Given the description of an element on the screen output the (x, y) to click on. 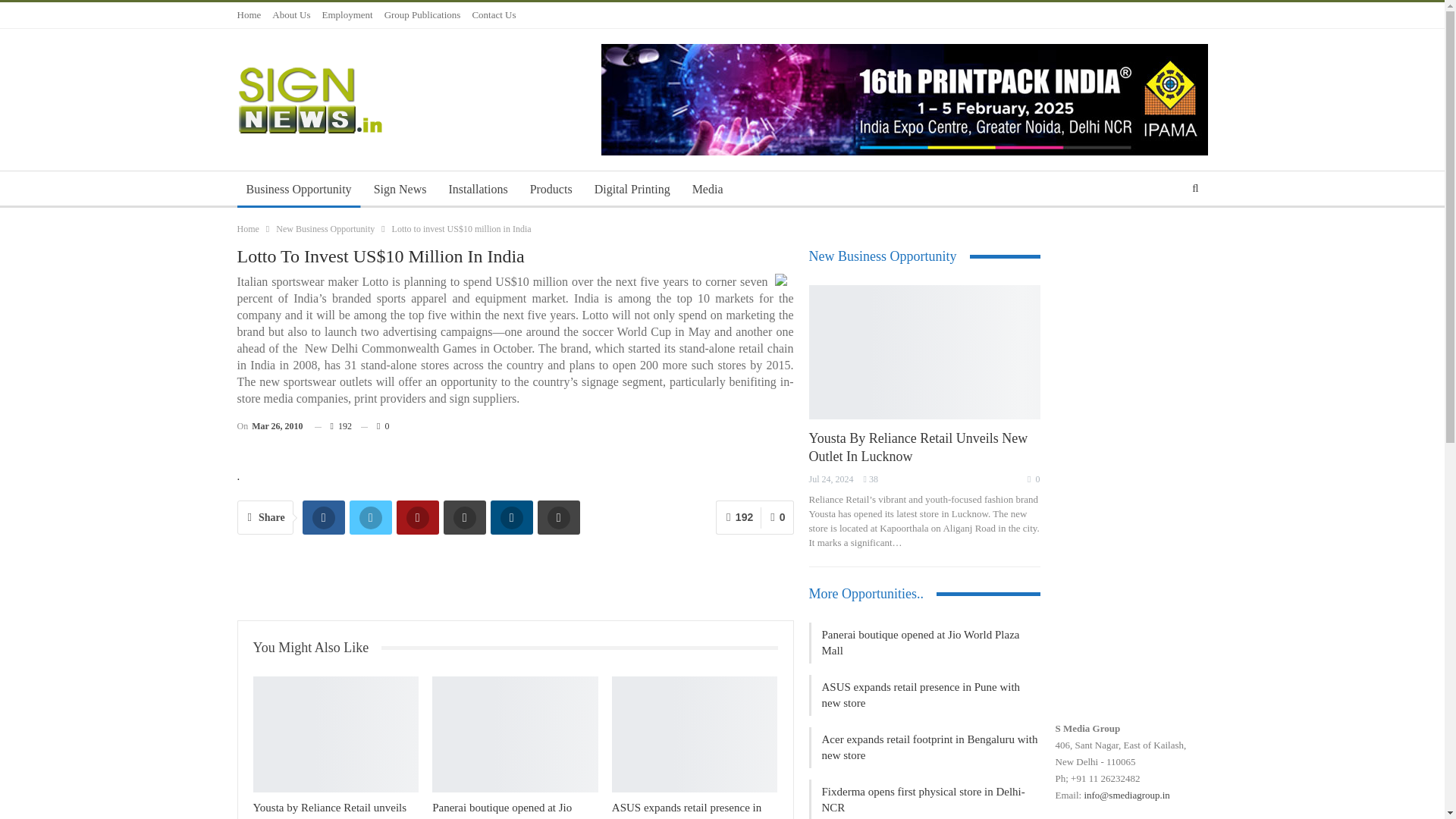
ASUS expands retail presence in Pune with new store (694, 734)
ASUS expands retail presence in Pune with new store (686, 810)
Employment (346, 14)
Panerai boutique opened at Jio World Plaza Mall (502, 810)
Home (247, 14)
Group Publications (422, 14)
Products (550, 189)
0 (374, 425)
Home (247, 228)
Installations (477, 189)
Panerai boutique opened at Jio World Plaza Mall (515, 734)
ASUS expands retail presence in Pune with new store (686, 810)
Media (707, 189)
Yousta by Reliance Retail unveils new outlet in Lucknow (330, 810)
Contact Us (493, 14)
